Given the description of an element on the screen output the (x, y) to click on. 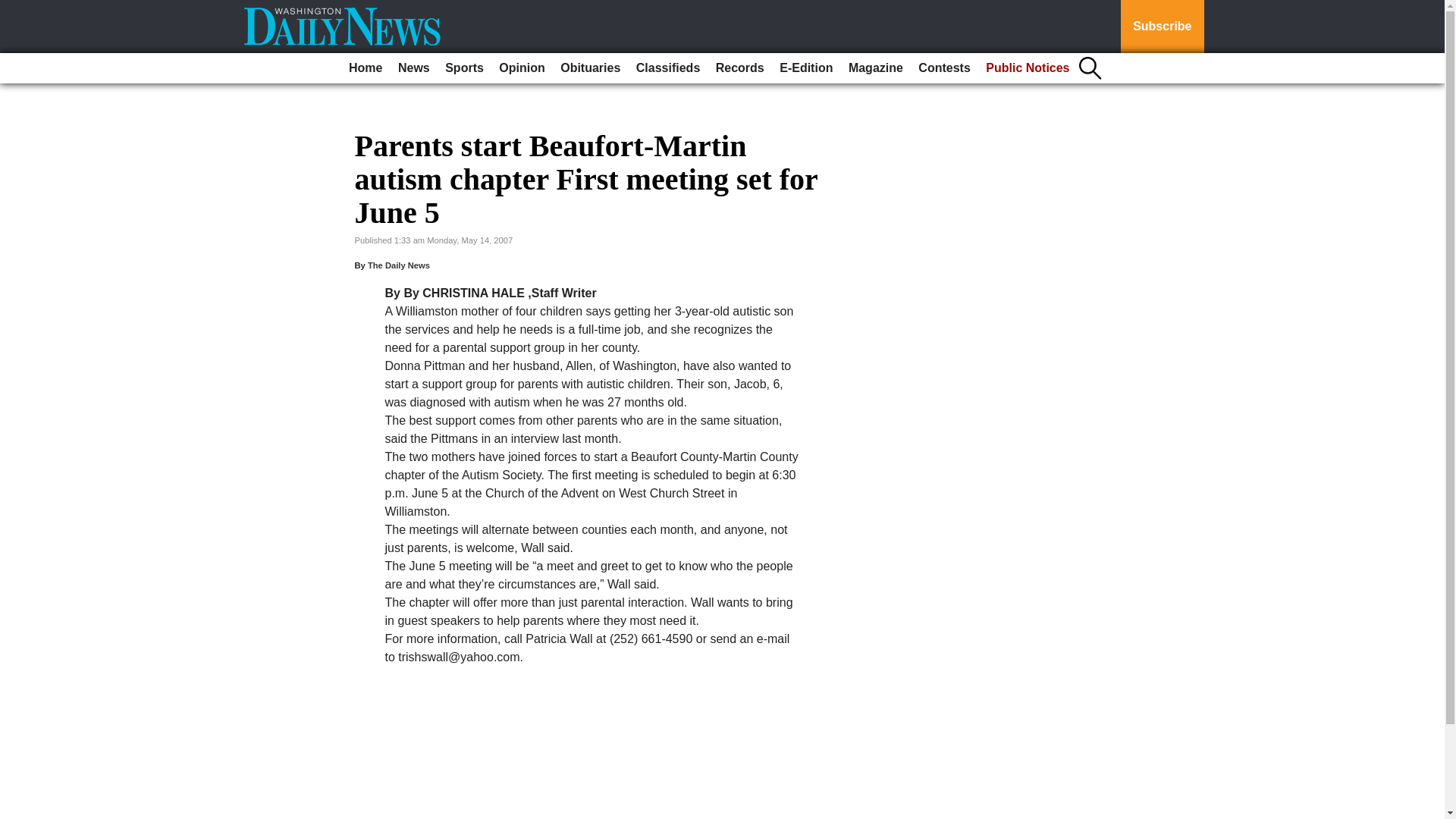
E-Edition (805, 68)
Contests (943, 68)
Subscribe (1162, 26)
Sports (464, 68)
Classifieds (668, 68)
Opinion (521, 68)
News (413, 68)
The Daily News (398, 265)
Go (13, 9)
Obituaries (590, 68)
